Given the description of an element on the screen output the (x, y) to click on. 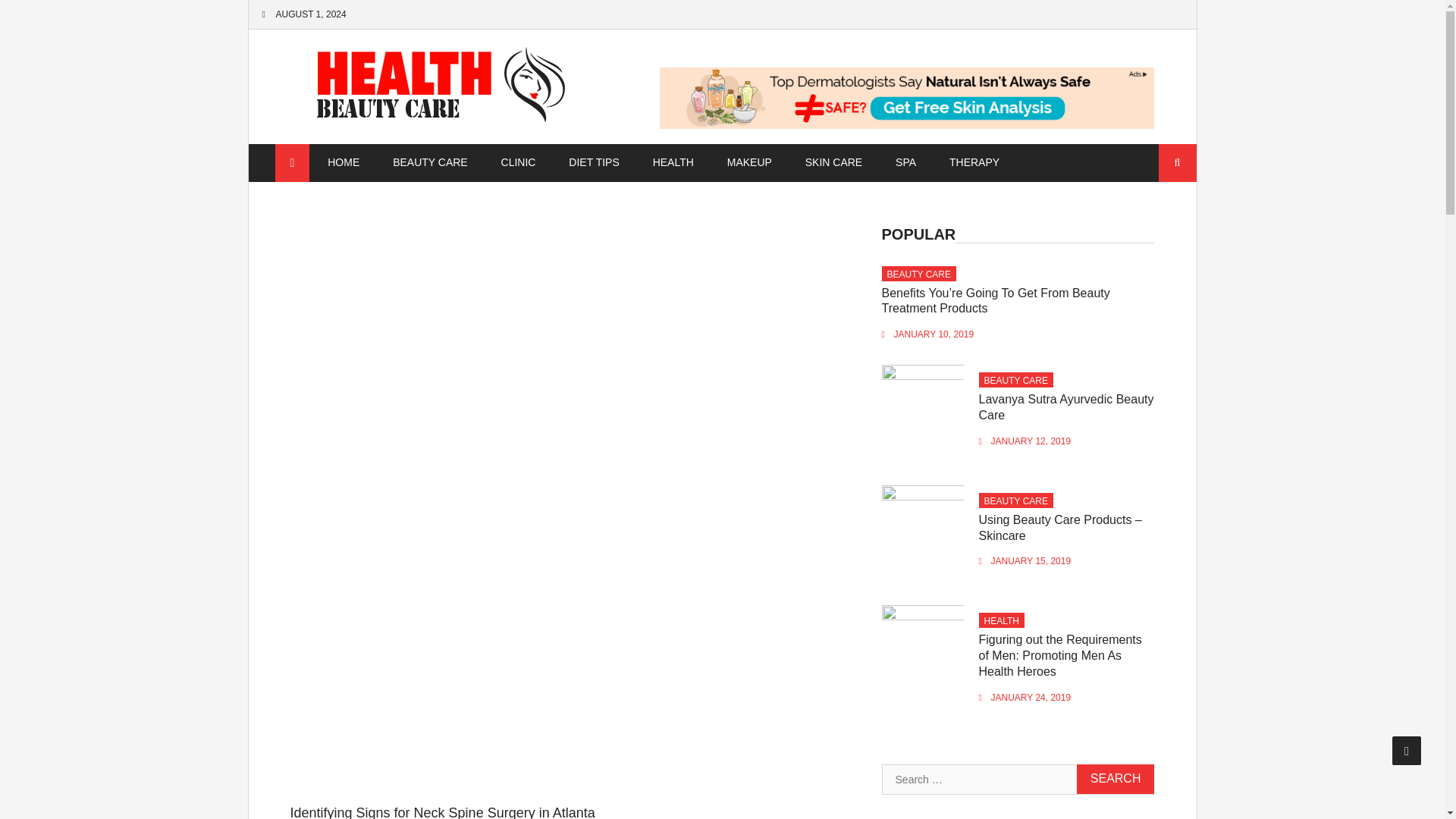
BEAUTY CARE (918, 274)
Search (1115, 778)
HEALTH (673, 162)
HEALTH (1001, 620)
Go to Top (1406, 750)
BEAUTY CARE (430, 162)
SPA (905, 162)
HOME (343, 162)
Search (1115, 778)
Lavanya Sutra Ayurvedic Beauty Care (1066, 407)
THERAPY (974, 162)
Search (1115, 778)
JANUARY 24, 2019 (1031, 697)
JANUARY 10, 2019 (933, 334)
